Given the description of an element on the screen output the (x, y) to click on. 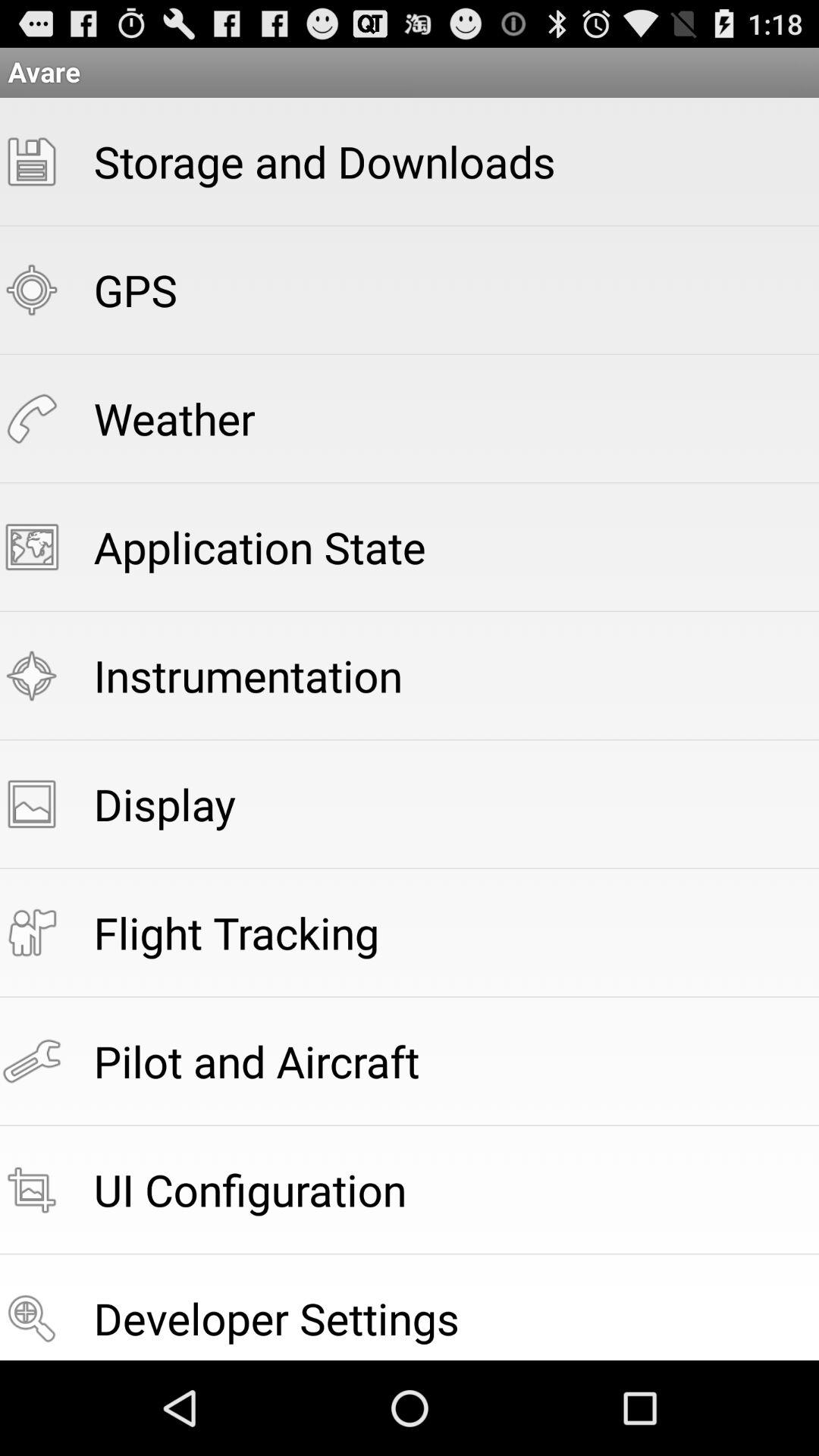
jump until pilot and aircraft (256, 1060)
